Given the description of an element on the screen output the (x, y) to click on. 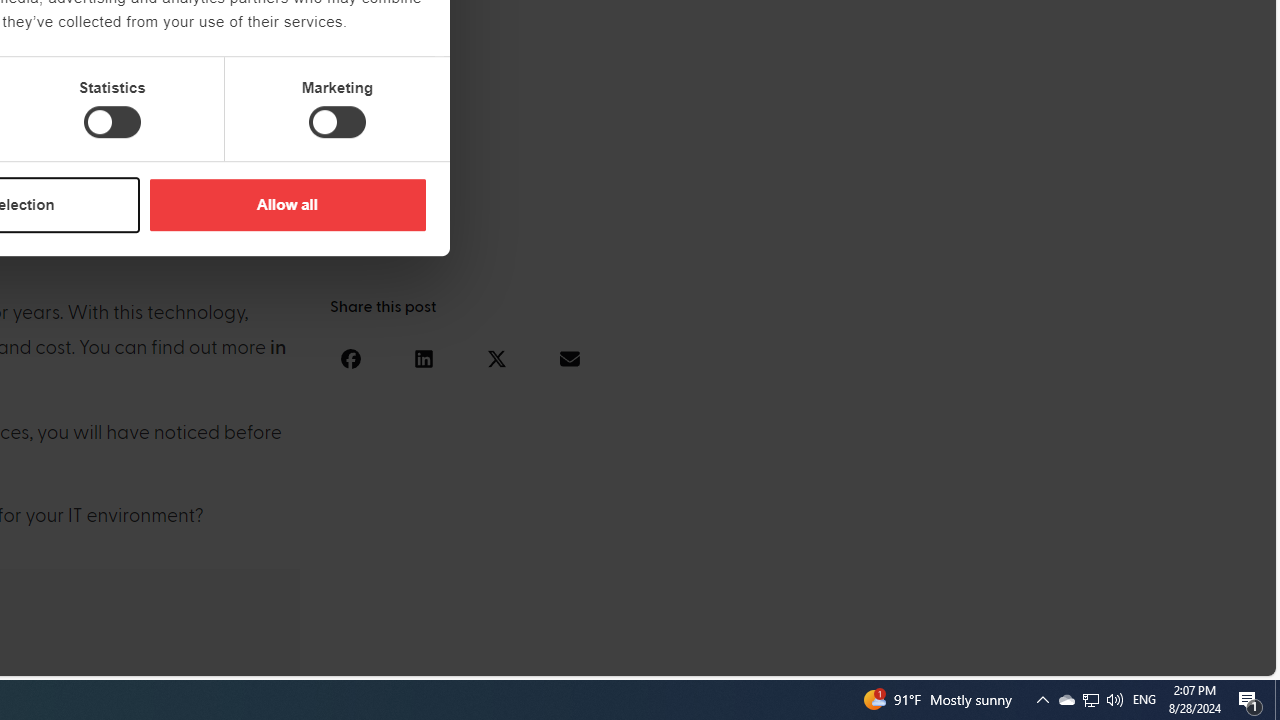
Language switcher : German (885, 657)
Language switcher : Greek (1145, 657)
Share on linkedin (423, 358)
Language switcher : Portuguese (1185, 657)
Language switcher : Slovenian (1066, 657)
Language switcher : Klingon (1226, 657)
Language switcher : Swedish (1105, 657)
Language switcher : Danish (1025, 657)
Language switcher : Polish (1005, 657)
Language switcher : Romanian (1126, 657)
Share on email (569, 358)
Language switcher : Finnish (1165, 657)
Language switcher : Czech (1205, 657)
Statistics (111, 121)
Language switcher : French (906, 657)
